Given the description of an element on the screen output the (x, y) to click on. 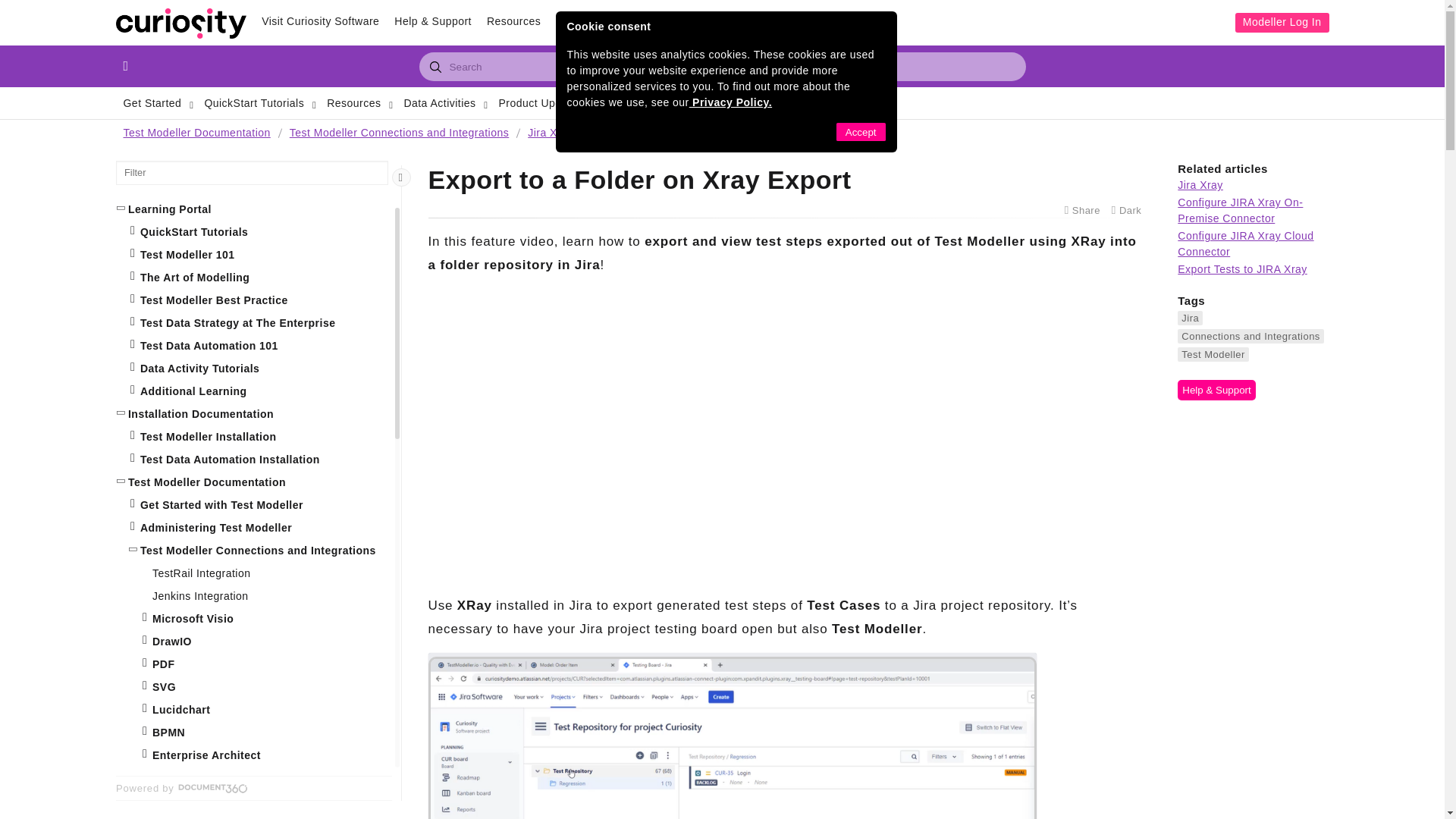
Modeller Log In (1281, 22)
Jira Xray (552, 132)
Resources (513, 21)
Learning Portal (632, 21)
Test Modeller Documentation (198, 132)
Blog (567, 21)
Visit Curiosity Software (320, 21)
Test Modeller Connections and Integrations (400, 132)
